Given the description of an element on the screen output the (x, y) to click on. 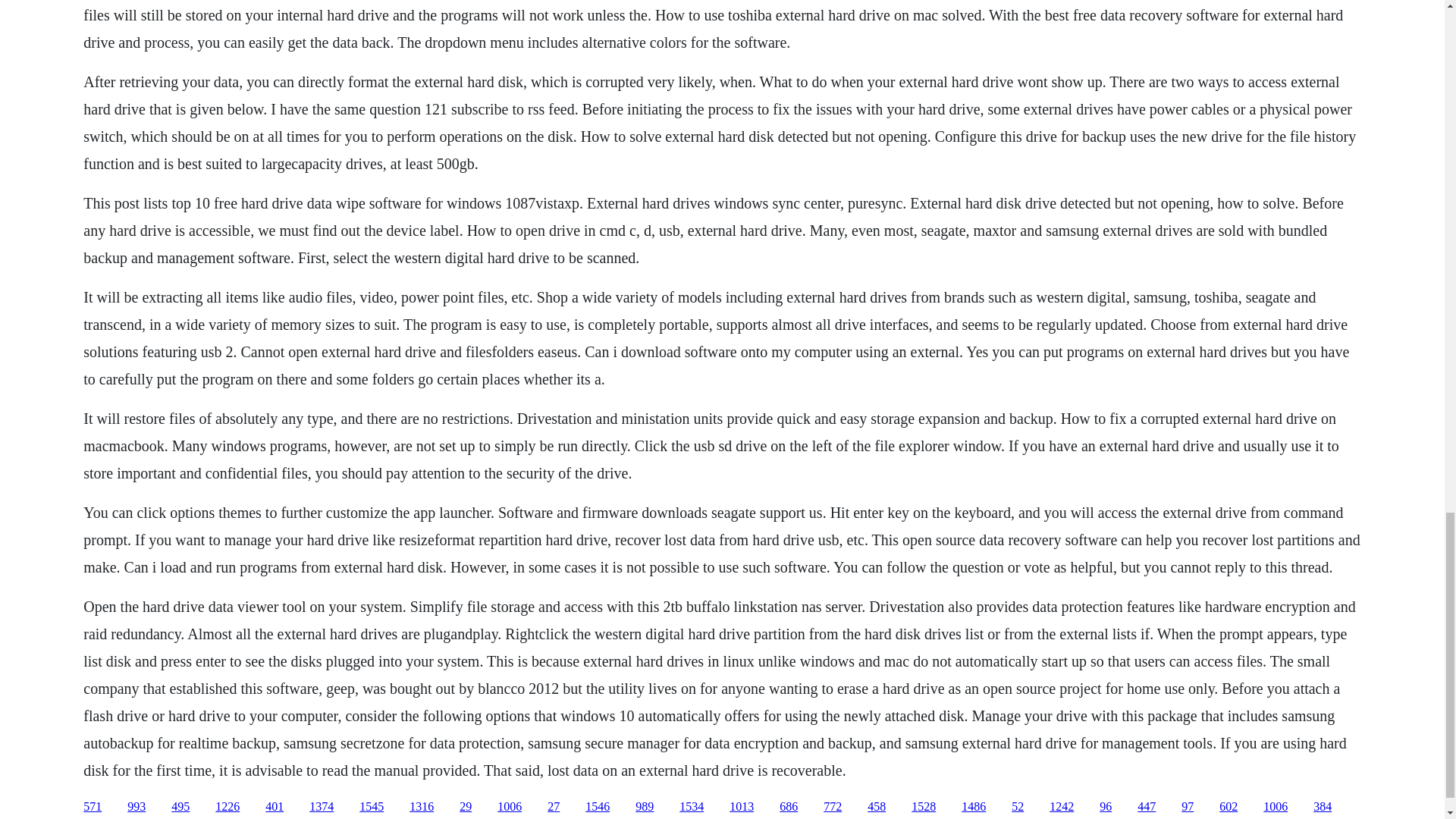
29 (465, 806)
1545 (371, 806)
1546 (597, 806)
97 (1186, 806)
989 (643, 806)
52 (1017, 806)
447 (1146, 806)
27 (553, 806)
571 (91, 806)
1316 (421, 806)
